Given the description of an element on the screen output the (x, y) to click on. 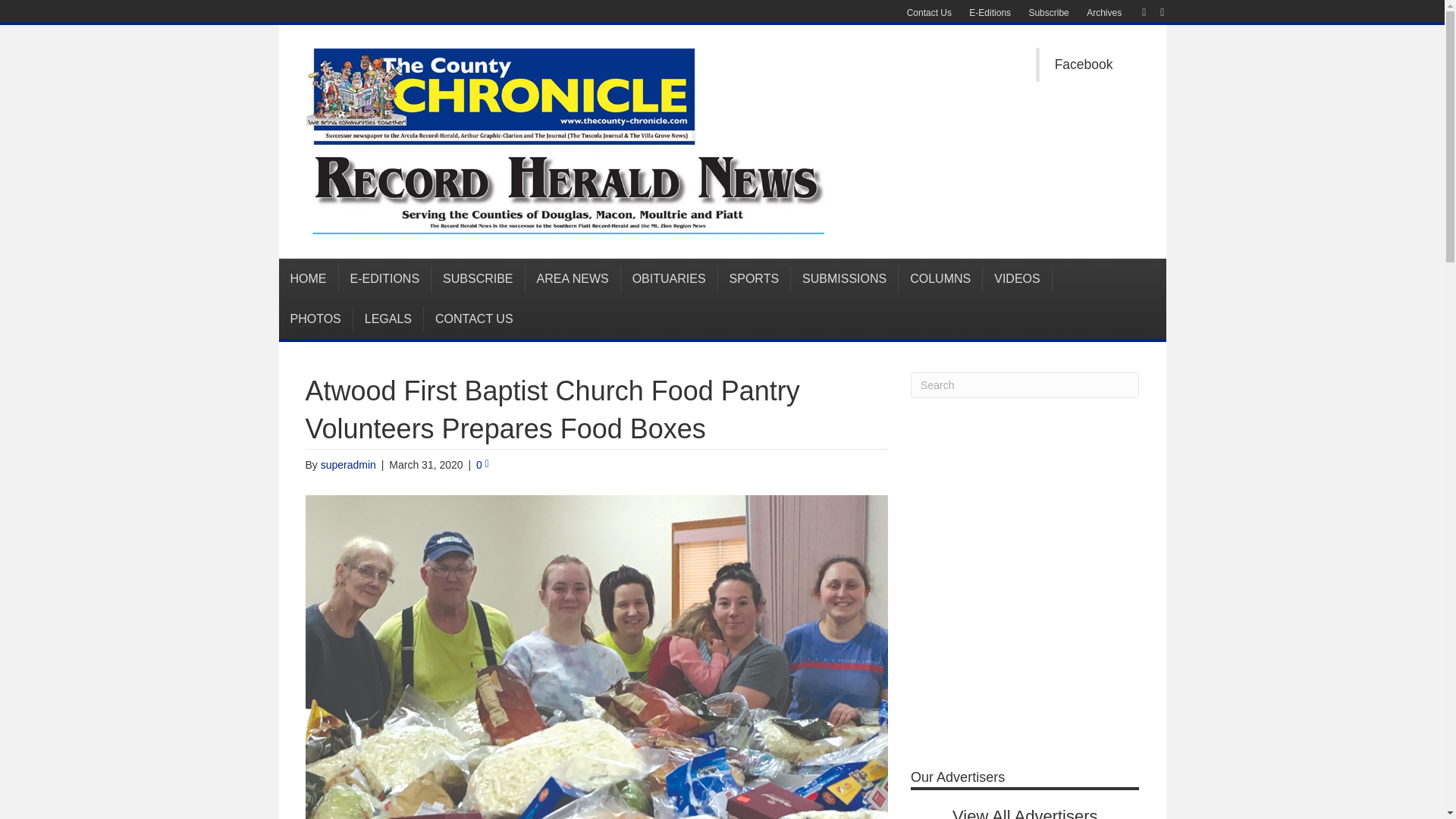
Email (1154, 11)
Subscribe (1047, 13)
E-Editions (988, 13)
SUBSCRIBE (477, 278)
AREA NEWS (573, 278)
Type and press Enter to search. (1024, 385)
Facebook (1135, 11)
Archives (1103, 13)
HOME (309, 278)
E-EDITIONS (383, 278)
Contact Us (929, 13)
Facebook (1083, 64)
